Given the description of an element on the screen output the (x, y) to click on. 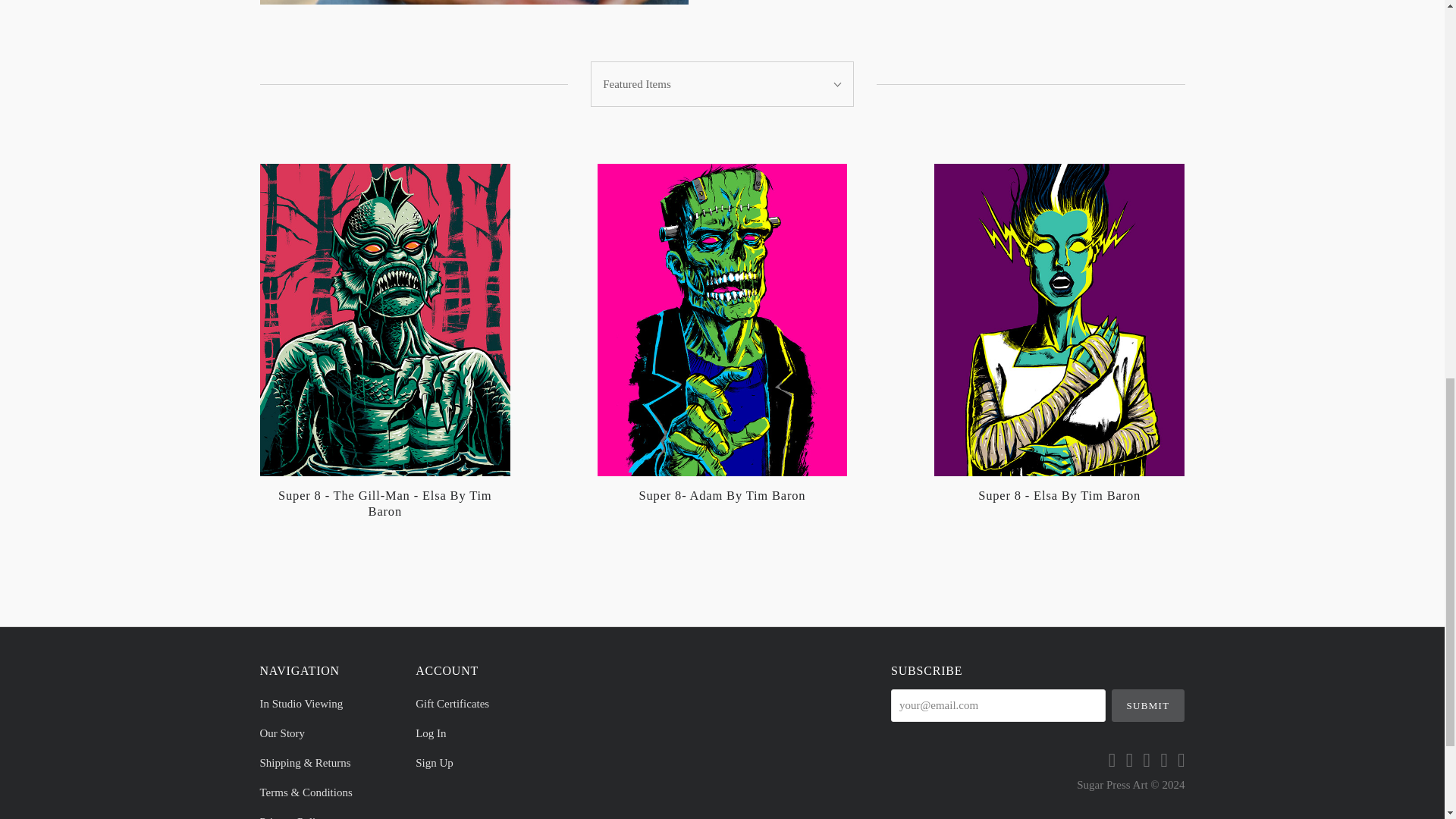
Super 8 - The Gill-man - Elsa by Tim Baron (385, 503)
Super 8- Adam by Tim Baron (722, 495)
Submit (1148, 705)
Super 8 - Elsa by Tim Baron (1059, 495)
